Given the description of an element on the screen output the (x, y) to click on. 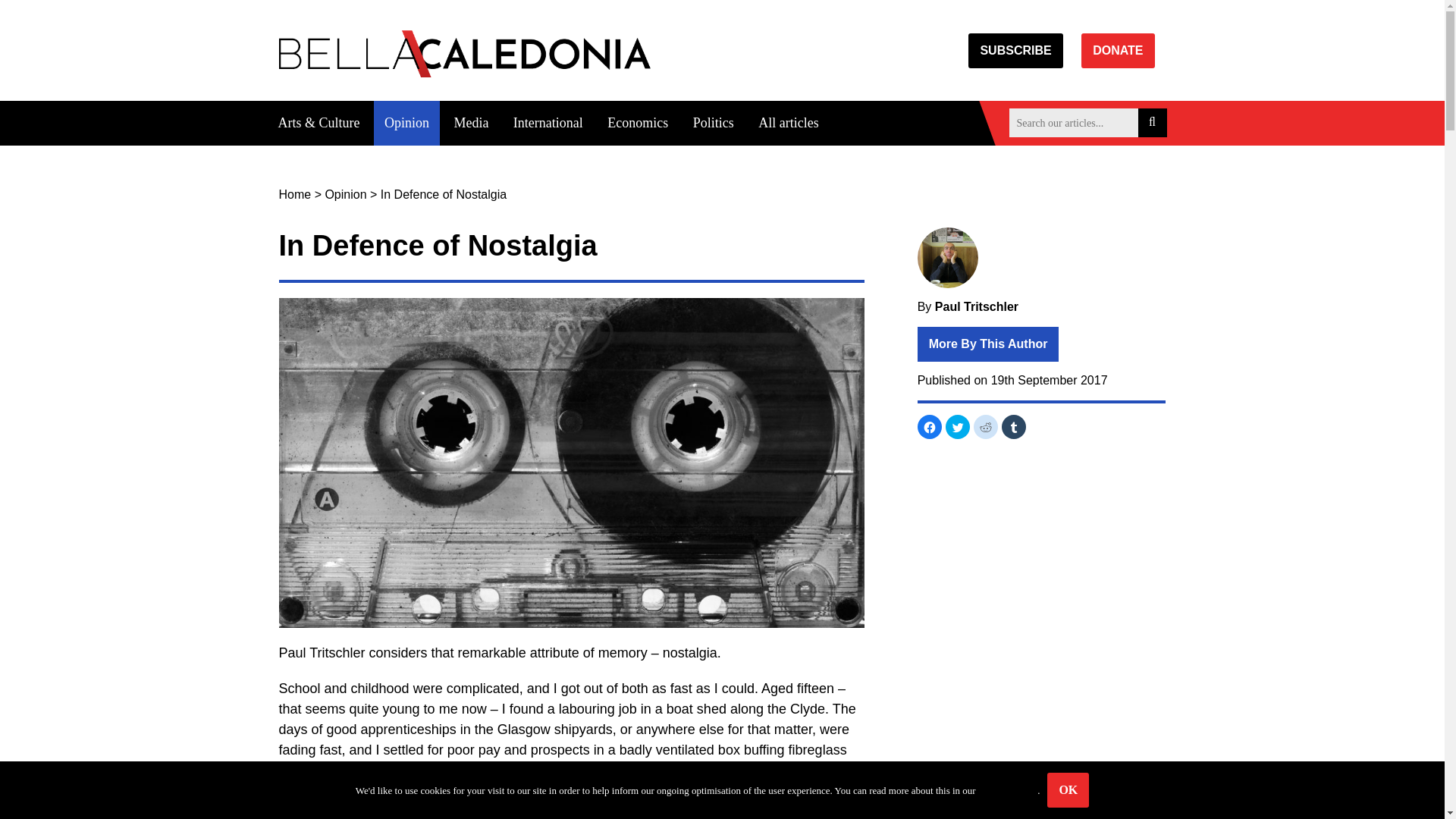
Media (470, 122)
All articles (788, 122)
Go to the Opinion category archives. (345, 194)
Politics (713, 122)
Go to Bella Caledonia. (295, 194)
Click to share on Twitter (956, 426)
Click to share on Facebook (929, 426)
Click to share on Reddit (985, 426)
SUBSCRIBE (1015, 50)
Opinion (406, 122)
DONATE (1117, 50)
Home (295, 194)
International (548, 122)
Opinion (345, 194)
Click to share on Tumblr (1013, 426)
